Given the description of an element on the screen output the (x, y) to click on. 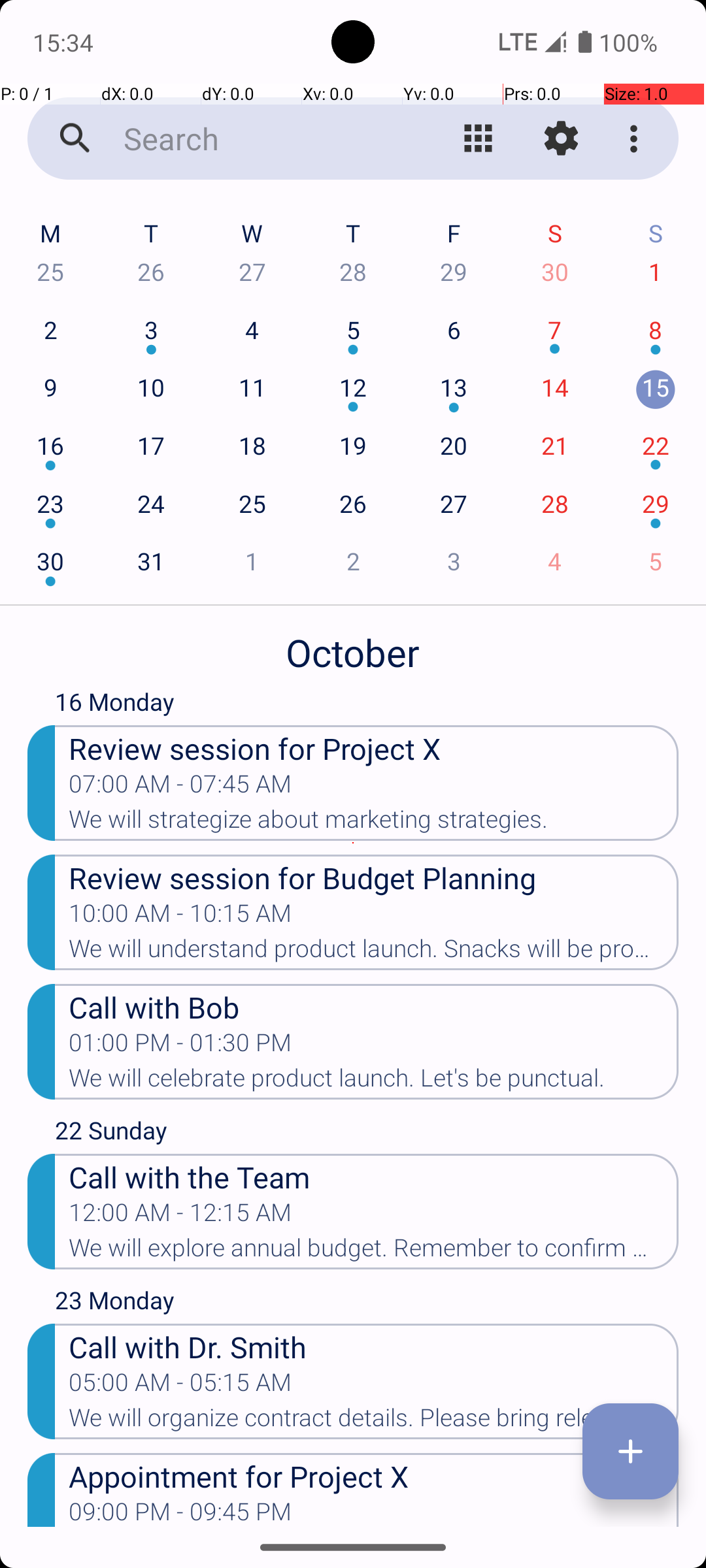
22 Sunday Element type: android.widget.TextView (366, 1133)
23 Monday Element type: android.widget.TextView (366, 1303)
07:00 AM - 07:45 AM Element type: android.widget.TextView (179, 787)
We will strategize about marketing strategies. Element type: android.widget.TextView (373, 822)
10:00 AM - 10:15 AM Element type: android.widget.TextView (179, 916)
We will understand product launch. Snacks will be provided. Element type: android.widget.TextView (373, 952)
Call with Bob Element type: android.widget.TextView (373, 1006)
01:00 PM - 01:30 PM Element type: android.widget.TextView (179, 1046)
We will celebrate product launch. Let's be punctual. Element type: android.widget.TextView (373, 1081)
Call with the Team Element type: android.widget.TextView (373, 1175)
12:00 AM - 12:15 AM Element type: android.widget.TextView (179, 1216)
We will explore annual budget. Remember to confirm attendance. Element type: android.widget.TextView (373, 1251)
Call with Dr. Smith Element type: android.widget.TextView (373, 1345)
05:00 AM - 05:15 AM Element type: android.widget.TextView (179, 1386)
We will organize contract details. Please bring relevant documents. Element type: android.widget.TextView (373, 1421)
Appointment for Project X Element type: android.widget.TextView (373, 1475)
09:00 PM - 09:45 PM Element type: android.widget.TextView (179, 1512)
